Given the description of an element on the screen output the (x, y) to click on. 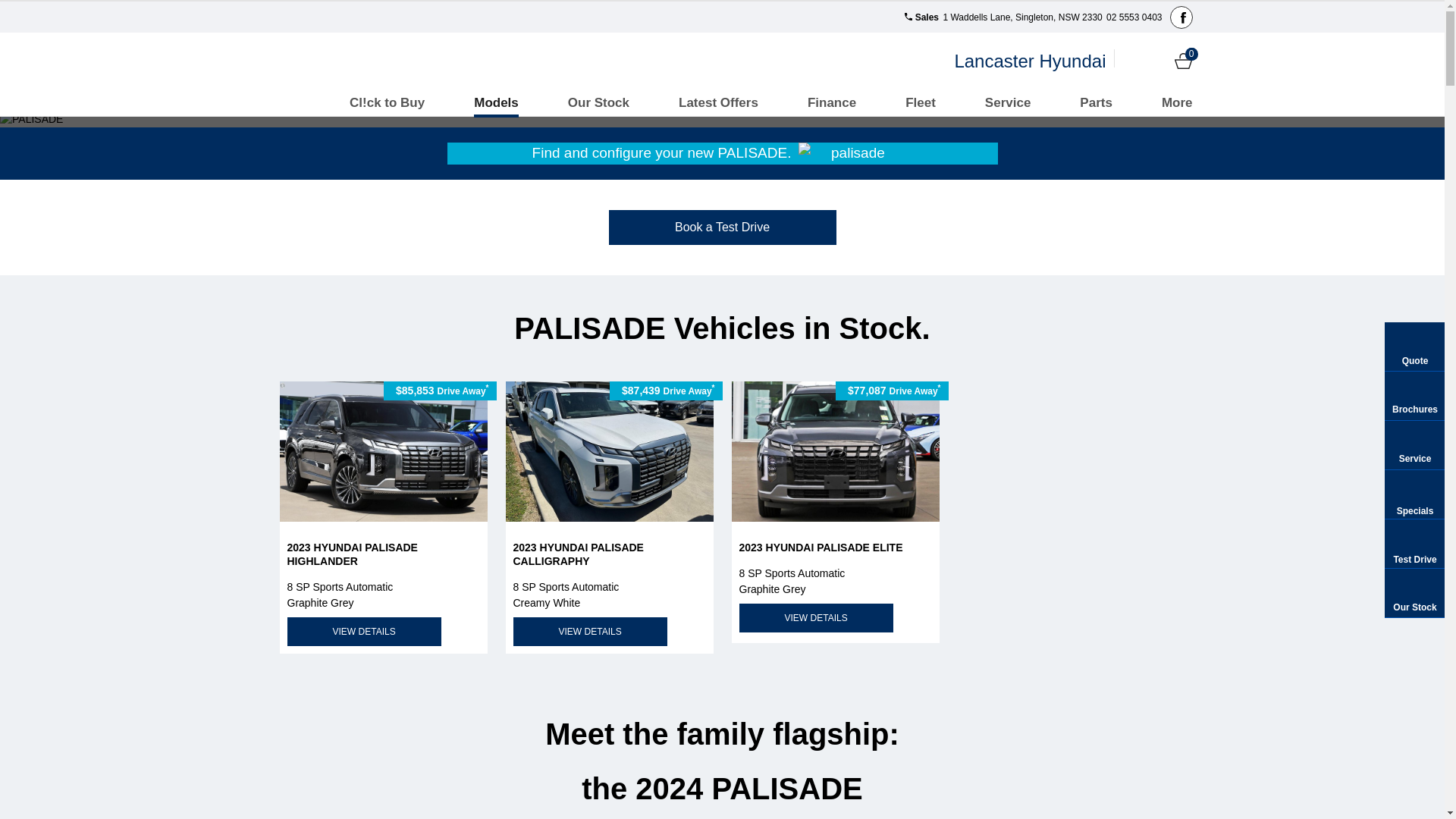
Find and configure your new PALISADE. Element type: text (722, 153)
Cart
0 Element type: text (1182, 61)
1 Waddells Lane, Singleton, NSW 2330 Element type: text (1021, 17)
Models Element type: text (495, 102)
Our Stock Element type: text (598, 102)
Facebook Element type: hover (1180, 17)
Book a Test Drive Element type: text (721, 226)
Latest Offers Element type: text (718, 102)
Fleet Element type: text (920, 102)
Login Element type: text (1131, 60)
More Element type: text (1176, 102)
Cl!ck to Buy Element type: text (386, 102)
Parts Element type: text (1095, 102)
02 5553 0403 Element type: text (1132, 17)
Hyundai Motor Company Element type: text (313, 60)
Service Element type: text (1008, 102)
Signup Element type: text (1157, 60)
Finance Element type: text (831, 102)
